Given the description of an element on the screen output the (x, y) to click on. 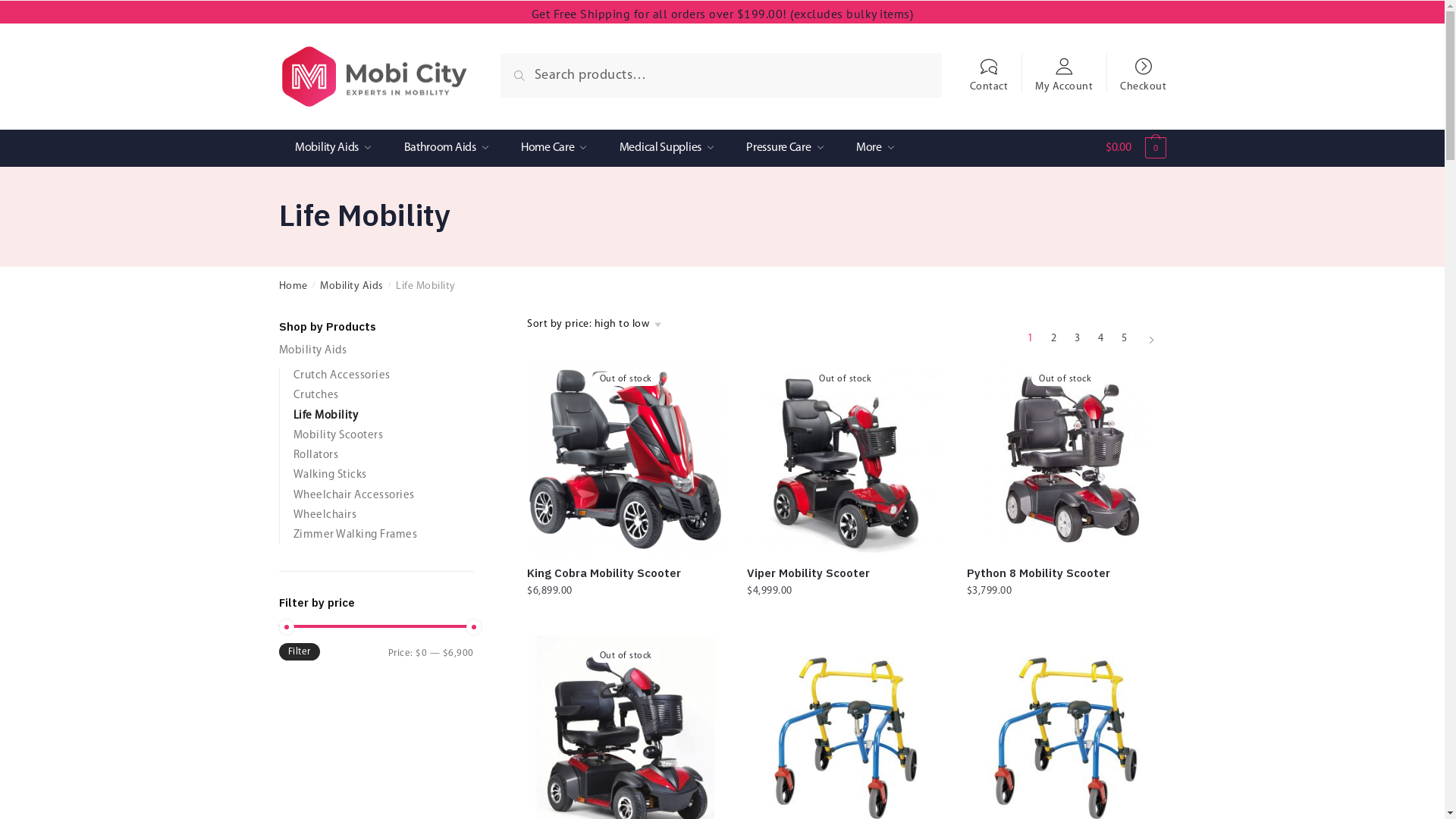
Checkout Element type: text (1143, 67)
5 Element type: text (1124, 339)
Home Care Element type: text (553, 147)
Mobility Aids Element type: text (333, 147)
$0.00 0 Element type: text (1135, 152)
Bathroom Aids Element type: text (445, 147)
Mobility Scooters Element type: text (337, 435)
Rollators Element type: text (315, 455)
Crutches Element type: text (315, 395)
Out of stock Element type: text (1065, 456)
2 Element type: text (1053, 339)
3 Element type: text (1077, 339)
Walking Sticks Element type: text (329, 474)
Wheelchairs Element type: text (324, 514)
Zimmer Walking Frames Element type: text (354, 534)
Viper Mobility Scooter Element type: text (845, 572)
Contact Element type: text (988, 67)
Pressure Care Element type: text (784, 147)
Mobility Aids Element type: text (313, 350)
4 Element type: text (1100, 339)
Search Element type: text (535, 70)
Life Mobility Element type: text (324, 415)
Crutch Accessories Element type: text (340, 375)
Filter Element type: text (299, 651)
My Account Element type: text (1064, 67)
Wheelchair Accessories Element type: text (353, 495)
King Cobra Mobility Scooter Element type: text (625, 572)
More Element type: text (874, 147)
Medical Supplies Element type: text (665, 147)
Python 8 Mobility Scooter Element type: text (1065, 572)
Out of stock Element type: text (625, 456)
Out of stock Element type: text (845, 456)
Home Element type: text (293, 285)
Mobility Aids Element type: text (351, 285)
